Given the description of an element on the screen output the (x, y) to click on. 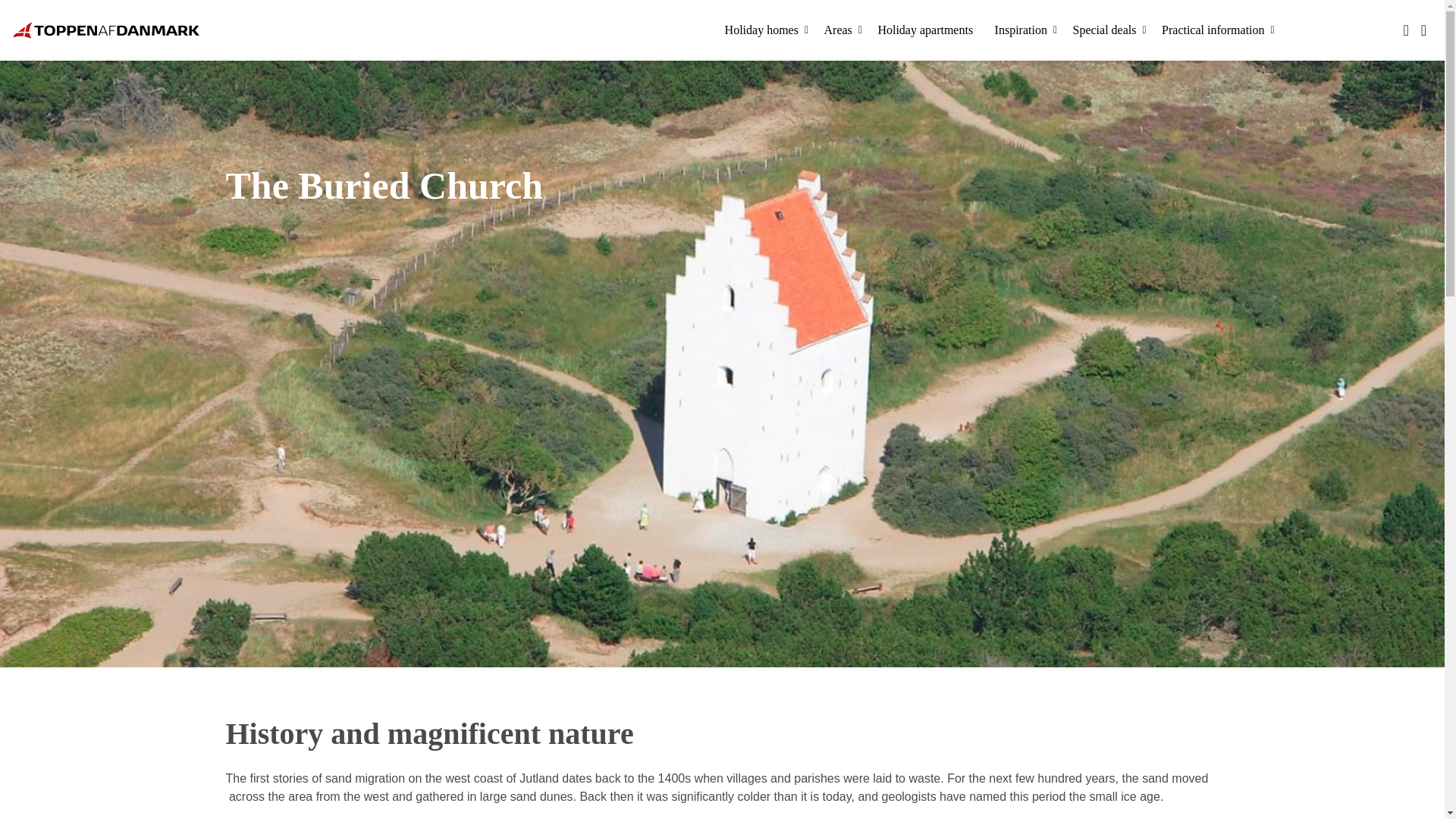
Special deals (1108, 30)
Holiday homes (766, 30)
Holiday apartments (927, 30)
Inspiration (1025, 30)
Areas (841, 30)
